Given the description of an element on the screen output the (x, y) to click on. 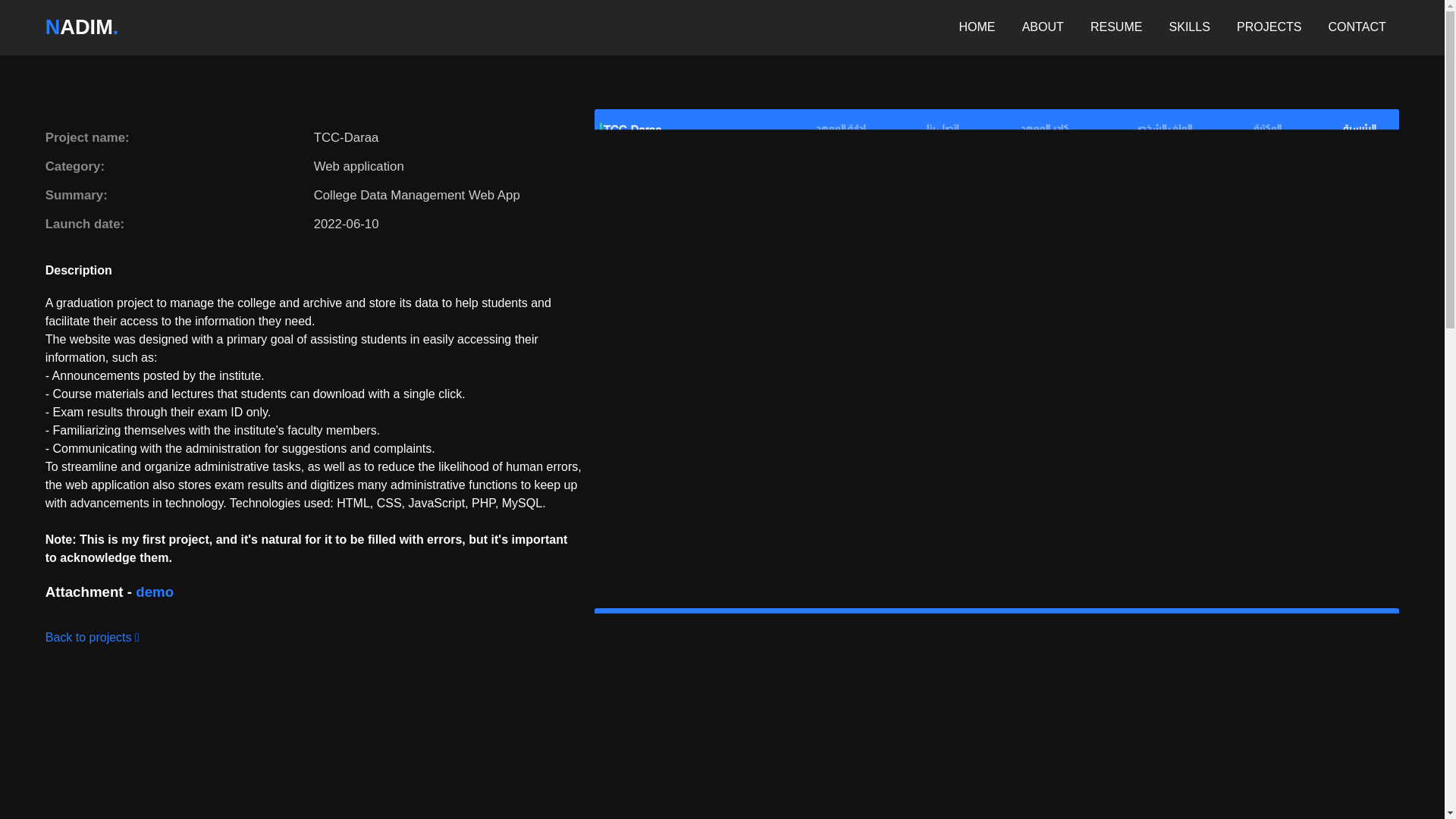
demo (154, 591)
NADIM. (82, 27)
RESUME (1115, 26)
CONTACT (1356, 26)
HOME (976, 26)
Back to projects (92, 636)
SKILLS (1189, 26)
PROJECTS (1268, 26)
ABOUT (1043, 26)
